Given the description of an element on the screen output the (x, y) to click on. 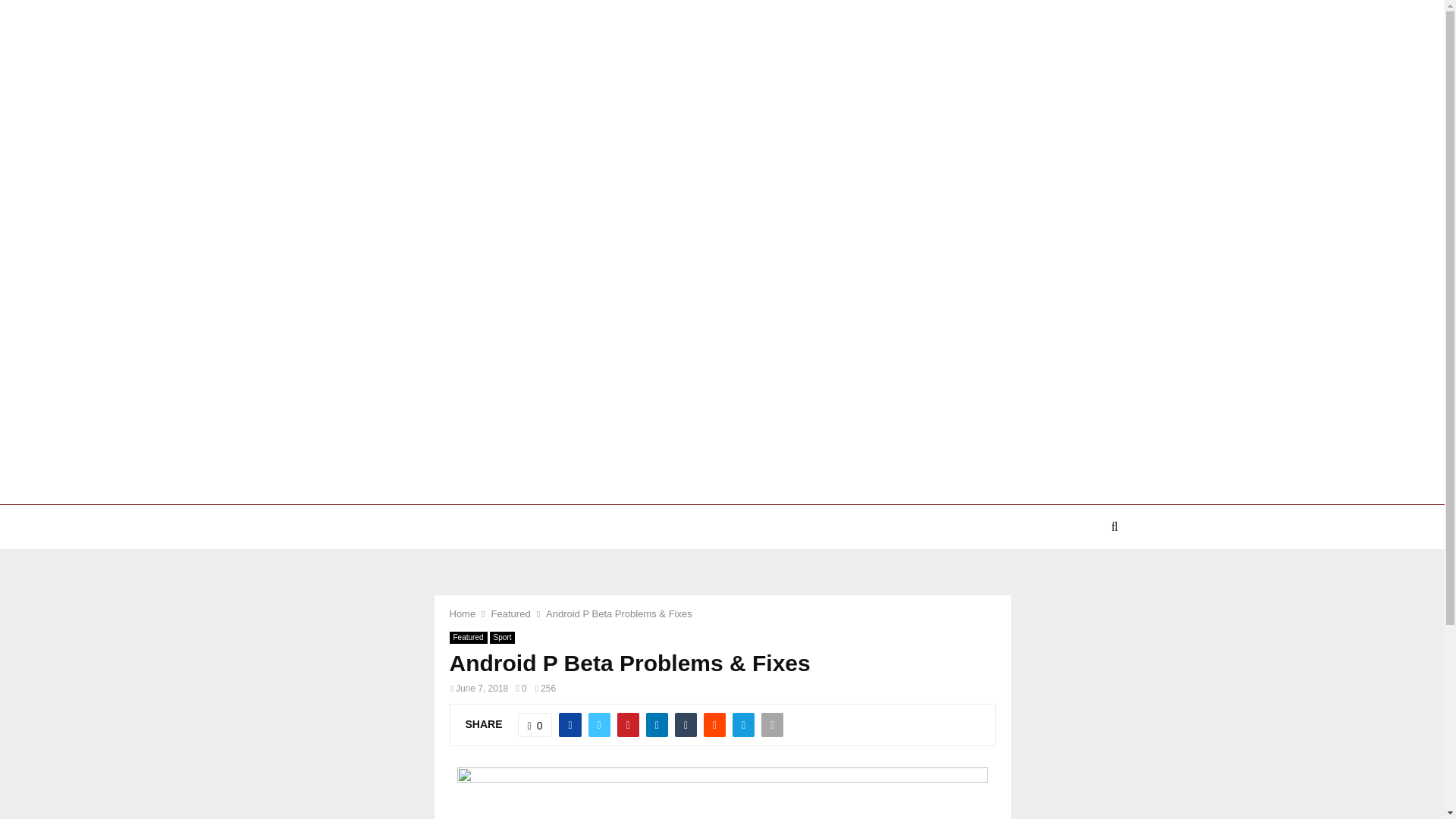
Home (462, 613)
Featured (467, 637)
POLITICS (570, 526)
CRIME (356, 526)
0 (520, 688)
Featured (511, 613)
CORNERSTONE NEWS (460, 526)
SPORT (729, 526)
Like (535, 724)
BUSINESS (892, 526)
EDUCATION (806, 526)
EDUCATION (653, 526)
Sport (502, 637)
SPORT (965, 526)
0 (535, 724)
